Given the description of an element on the screen output the (x, y) to click on. 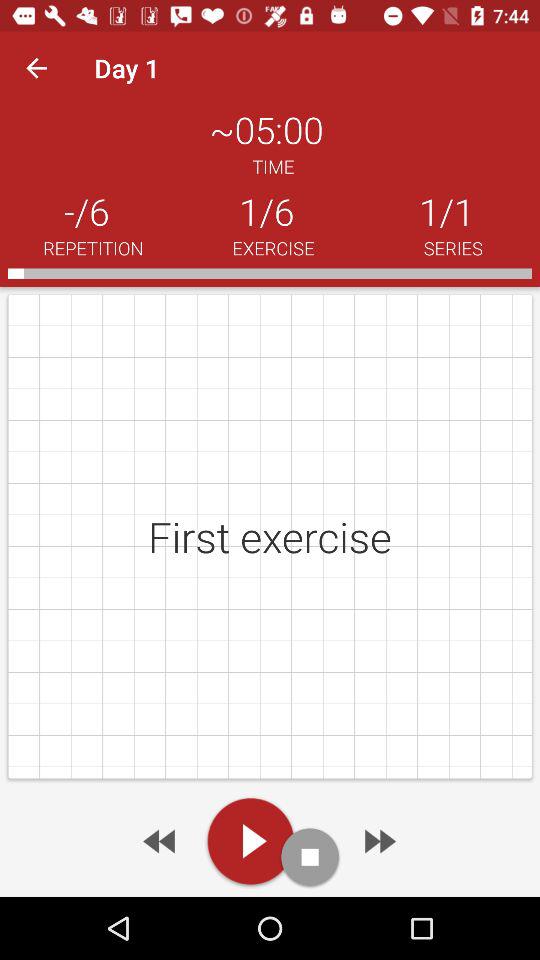
stop (309, 856)
